Given the description of an element on the screen output the (x, y) to click on. 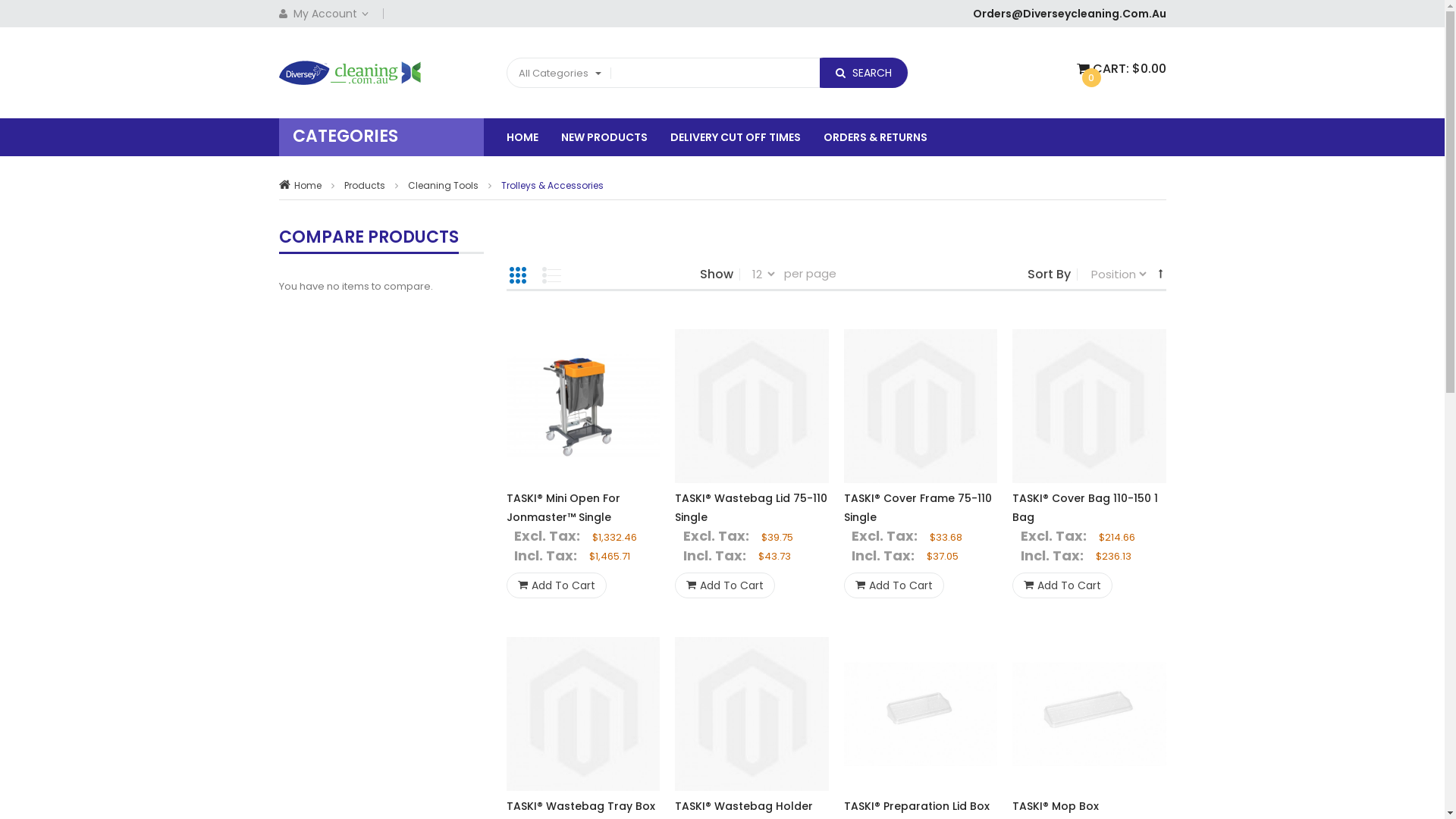
NEW PRODUCTS Element type: text (615, 137)
0
CART: $0.00 Element type: text (1121, 68)
ORDERS & RETURNS Element type: text (886, 137)
Add To Cart Element type: text (724, 585)
My Account   Element type: text (331, 13)
Add To Cart Element type: text (893, 585)
LIST Element type: text (550, 274)
Set Descending Direction Element type: hover (1159, 272)
Products Element type: text (364, 184)
All Categories
  Element type: text (558, 72)
Home Element type: text (307, 184)
DiverseyCleaning Element type: hover (349, 72)
 SEARCH Element type: text (857, 72)
Cleaning Tools Element type: text (442, 184)
HOME Element type: text (533, 137)
Add To Cart Element type: text (1062, 585)
DELIVERY CUT OFF TIMES Element type: text (746, 137)
Add To Cart Element type: text (556, 585)
